Given the description of an element on the screen output the (x, y) to click on. 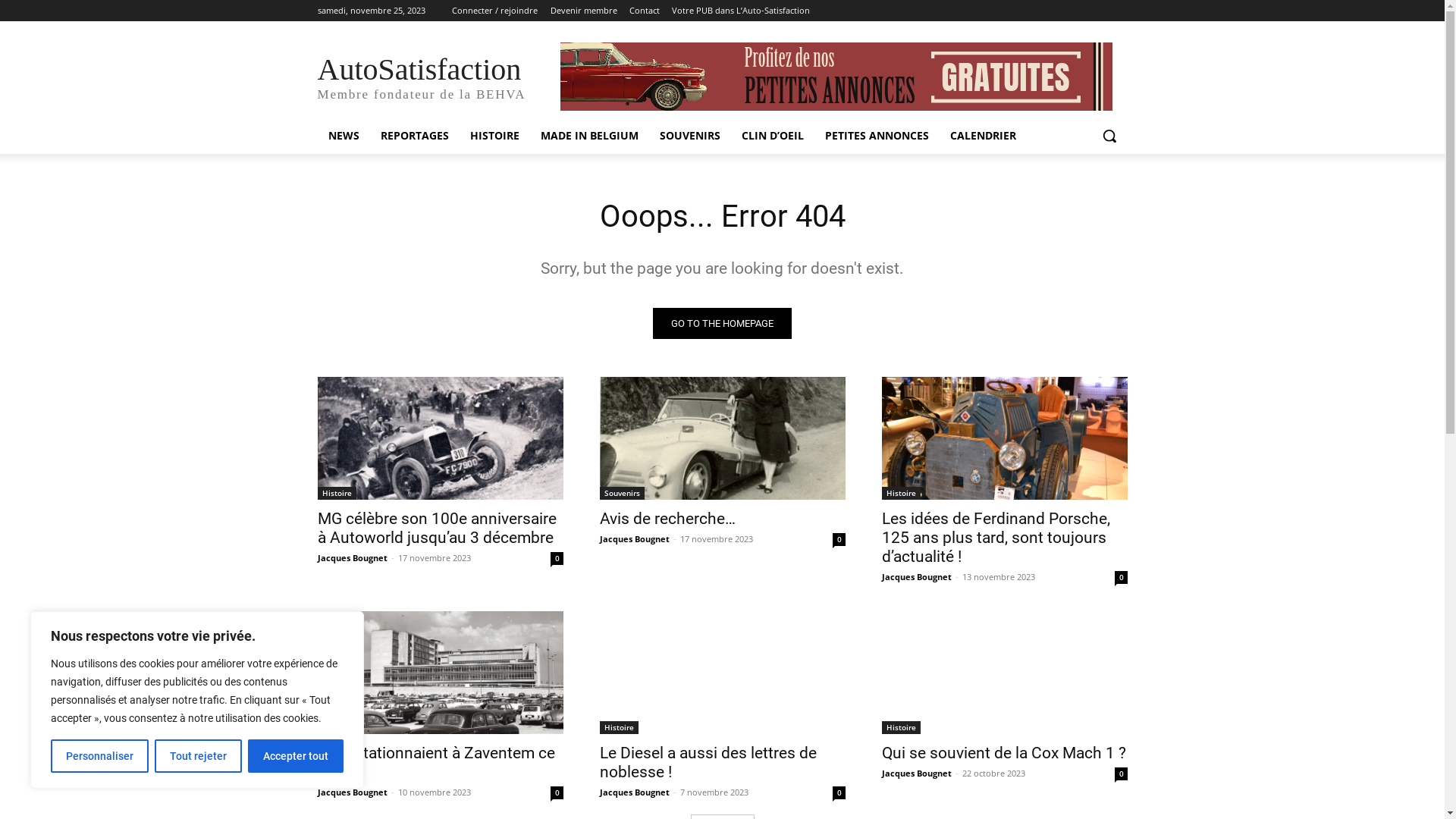
Souvenirs Element type: text (338, 727)
0 Element type: text (1120, 577)
Jacques Bougnet Element type: text (351, 791)
HISTOIRE Element type: text (494, 135)
0 Element type: text (838, 539)
Histoire Element type: text (900, 727)
Jacques Bougnet Element type: text (633, 791)
CALENDRIER Element type: text (982, 135)
Souvenirs Element type: text (621, 492)
MADE IN BELGIUM Element type: text (588, 135)
NEWS Element type: text (342, 135)
Le Diesel a aussi des lettres de noblesse ! Element type: text (707, 762)
GO TO THE HOMEPAGE Element type: text (721, 322)
0 Element type: text (556, 792)
Histoire Element type: text (335, 492)
Jacques Bougnet Element type: text (633, 538)
Jacques Bougnet Element type: text (915, 576)
AutoSatisfaction
Membre fondateur de la BEHVA Element type: text (437, 76)
0 Element type: text (838, 792)
Devenir membre Element type: text (583, 10)
REPORTAGES Element type: text (414, 135)
Qui se souvient de la Cox Mach 1 ? Element type: text (1003, 752)
0 Element type: text (1120, 773)
Jacques Bougnet Element type: text (351, 557)
PETITES ANNONCES Element type: text (876, 135)
Contact Element type: text (644, 10)
Personnaliser Element type: text (99, 755)
Histoire Element type: text (618, 727)
0 Element type: text (556, 558)
Tout rejeter Element type: text (197, 755)
Histoire Element type: text (900, 492)
Accepter tout Element type: text (295, 755)
Jacques Bougnet Element type: text (915, 772)
Le Diesel a aussi des lettres de noblesse ! Element type: hover (721, 672)
Qui se souvient de la Cox Mach 1 ? Element type: hover (1003, 672)
SOUVENIRS Element type: text (690, 135)
Connecter / rejoindre Element type: text (494, 10)
